Given the description of an element on the screen output the (x, y) to click on. 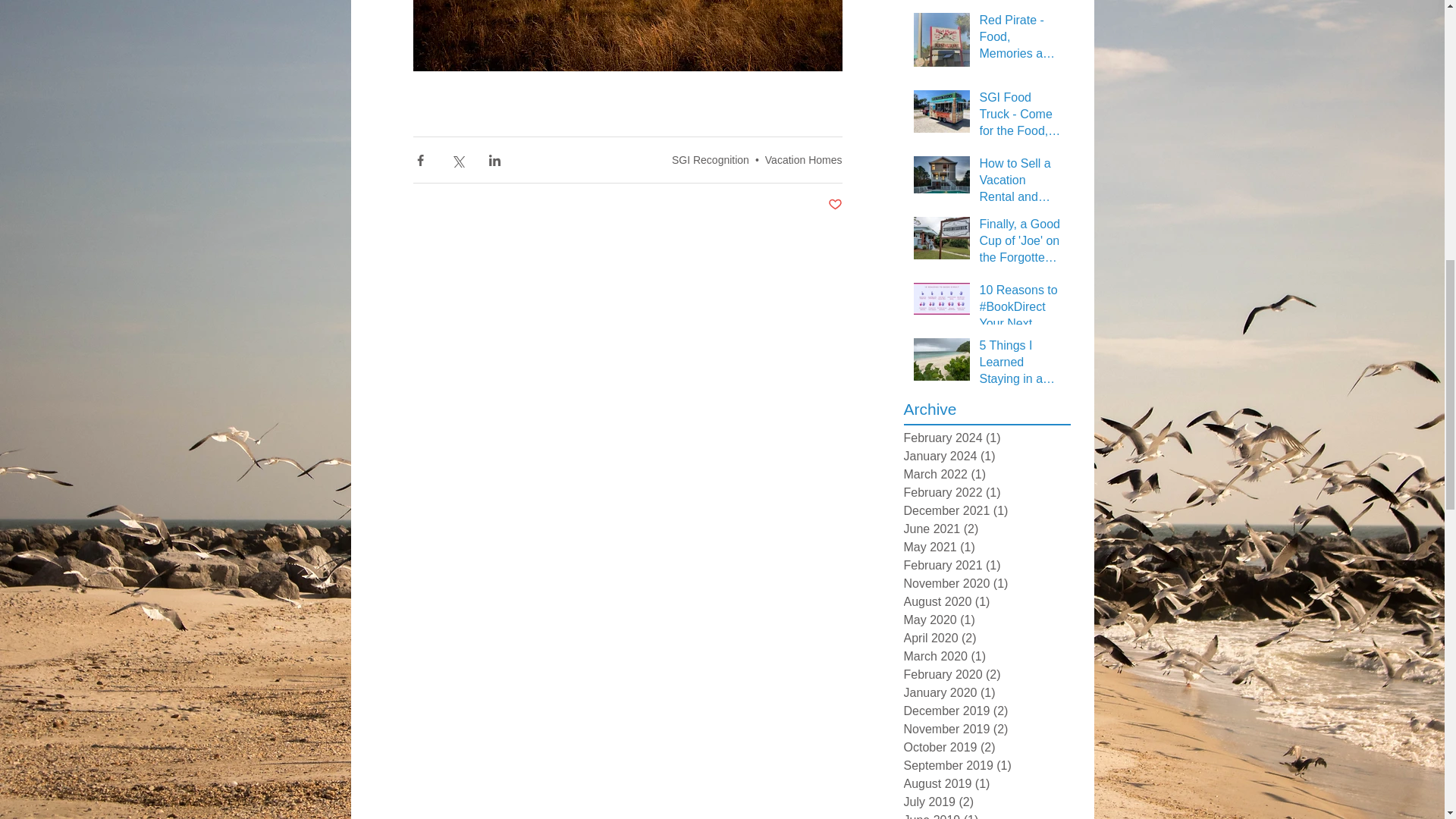
SGI Food Truck - Come for the Food, Leave with Some Laughs (1020, 117)
Finally, a Good Cup of 'Joe' on the Forgotten Coast! (1020, 244)
SGI Recognition (710, 159)
How to Sell a Vacation Rental and Protect Your Renters (1020, 183)
5 Things I Learned Staying in a Vacation Rental (1020, 365)
Post not marked as liked (835, 204)
Vacation Homes (804, 159)
